Given the description of an element on the screen output the (x, y) to click on. 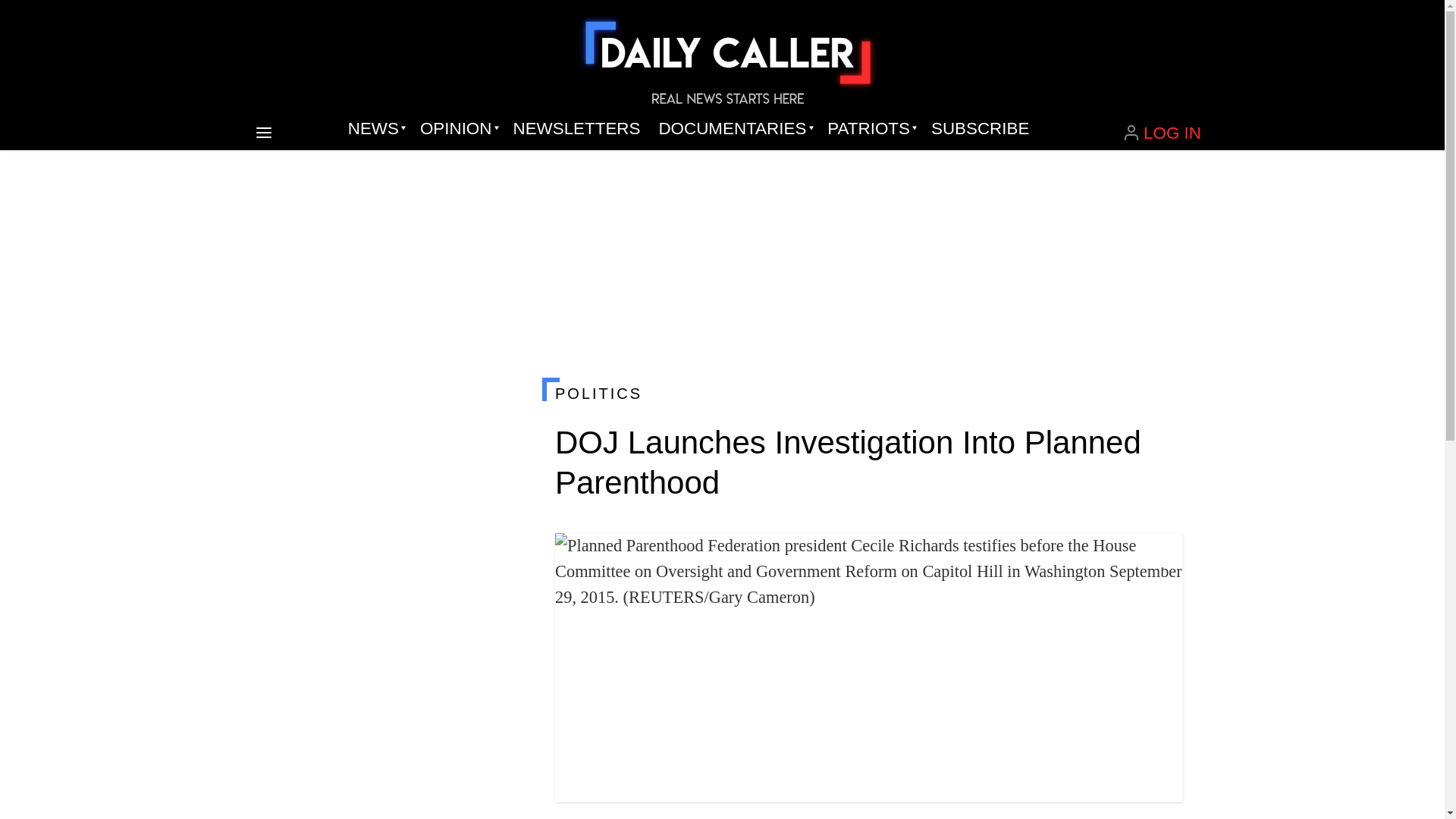
NEWS (374, 128)
PATRIOTS (869, 128)
SUBSCRIBE (979, 128)
POLITICS (868, 393)
OPINION (456, 128)
NEWSLETTERS (576, 128)
Toggle fullscreen (1159, 556)
DOCUMENTARIES (733, 128)
